Given the description of an element on the screen output the (x, y) to click on. 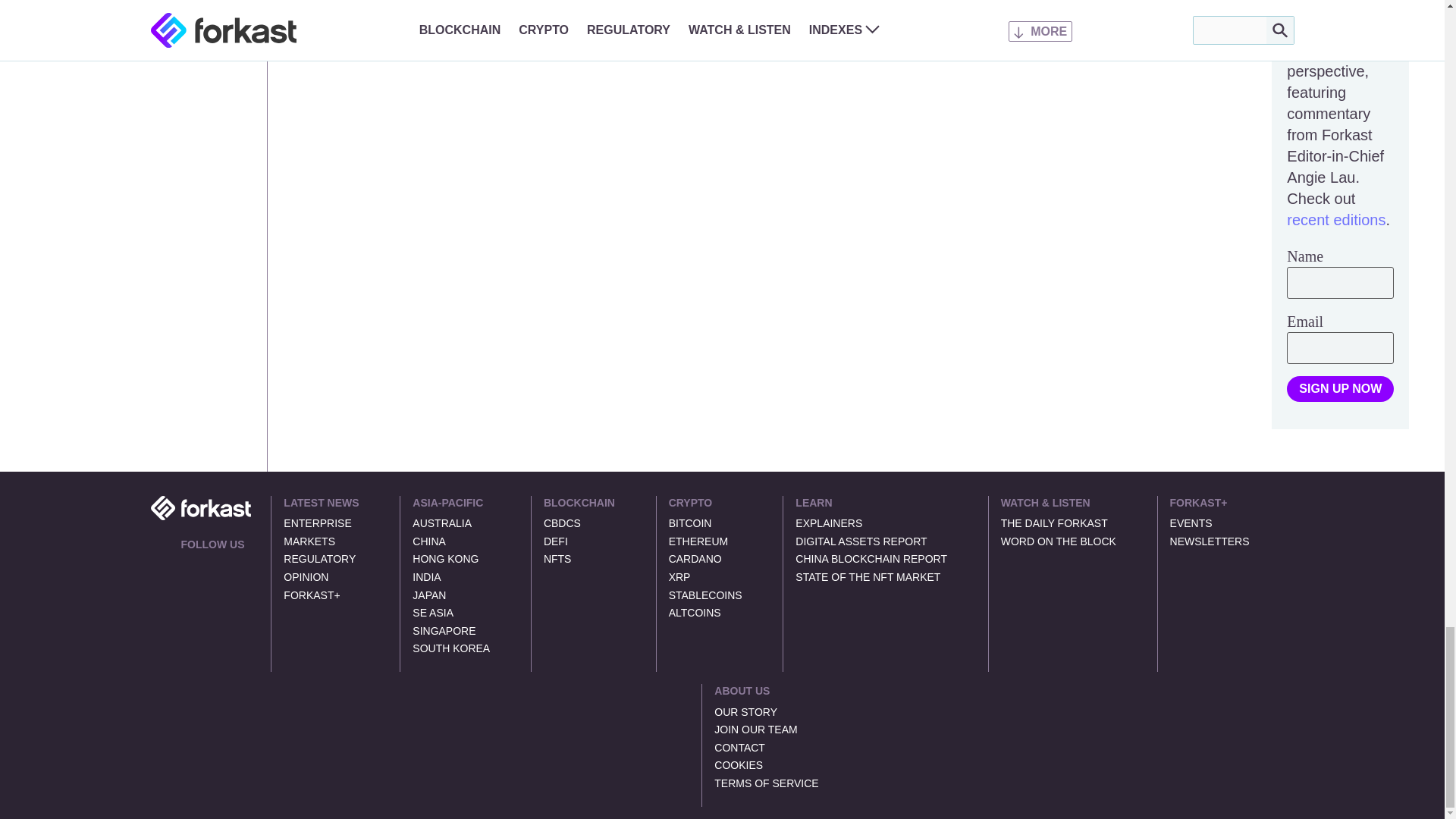
Forkast's profile on Facebook (222, 563)
Sign up now (1340, 388)
Forkast's profile on Twitter (186, 563)
Forkast's profile on LinkedIn (204, 563)
Forkast's profile on Instagram (240, 563)
